Given the description of an element on the screen output the (x, y) to click on. 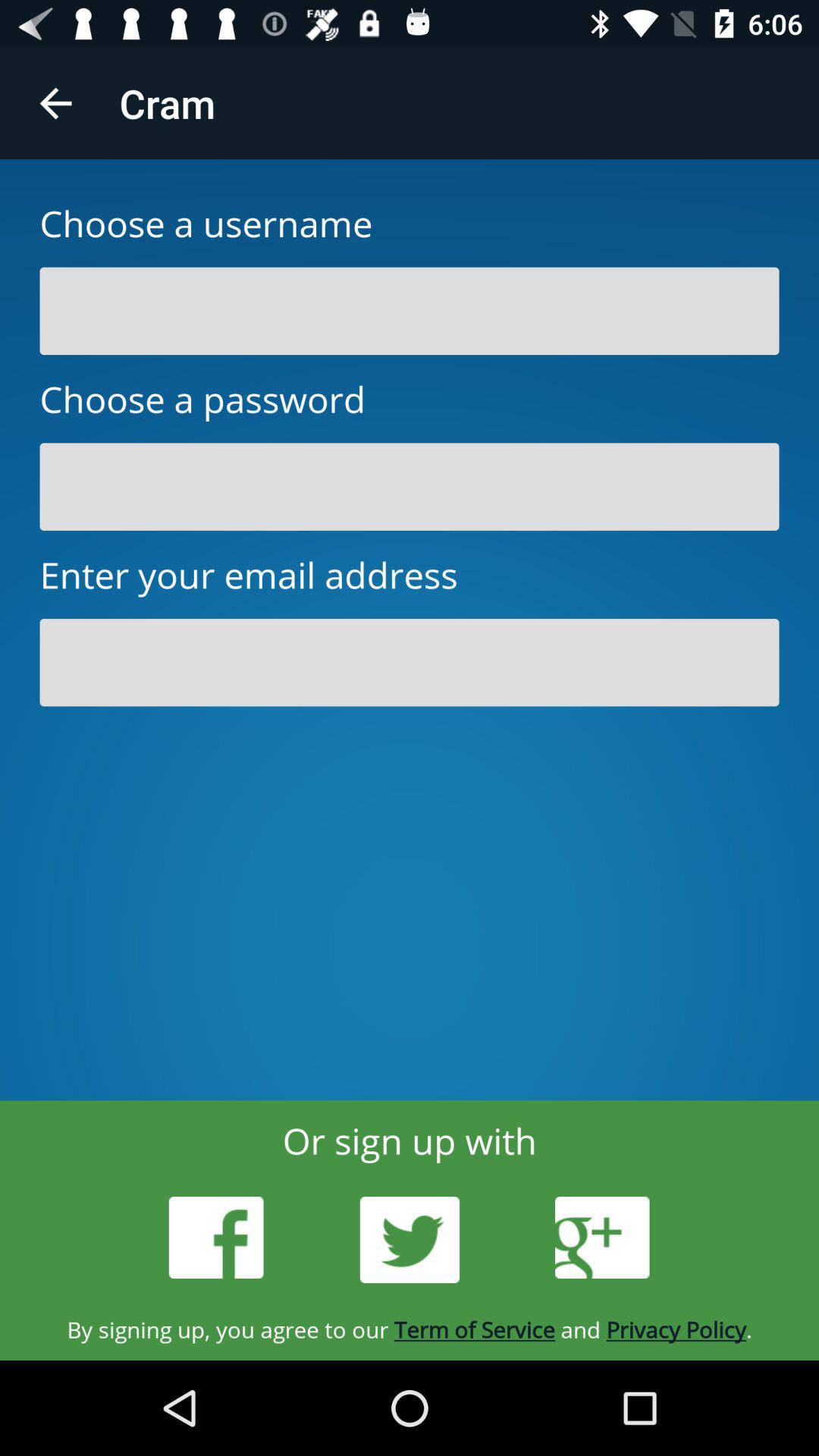
make an account (409, 662)
